Given the description of an element on the screen output the (x, y) to click on. 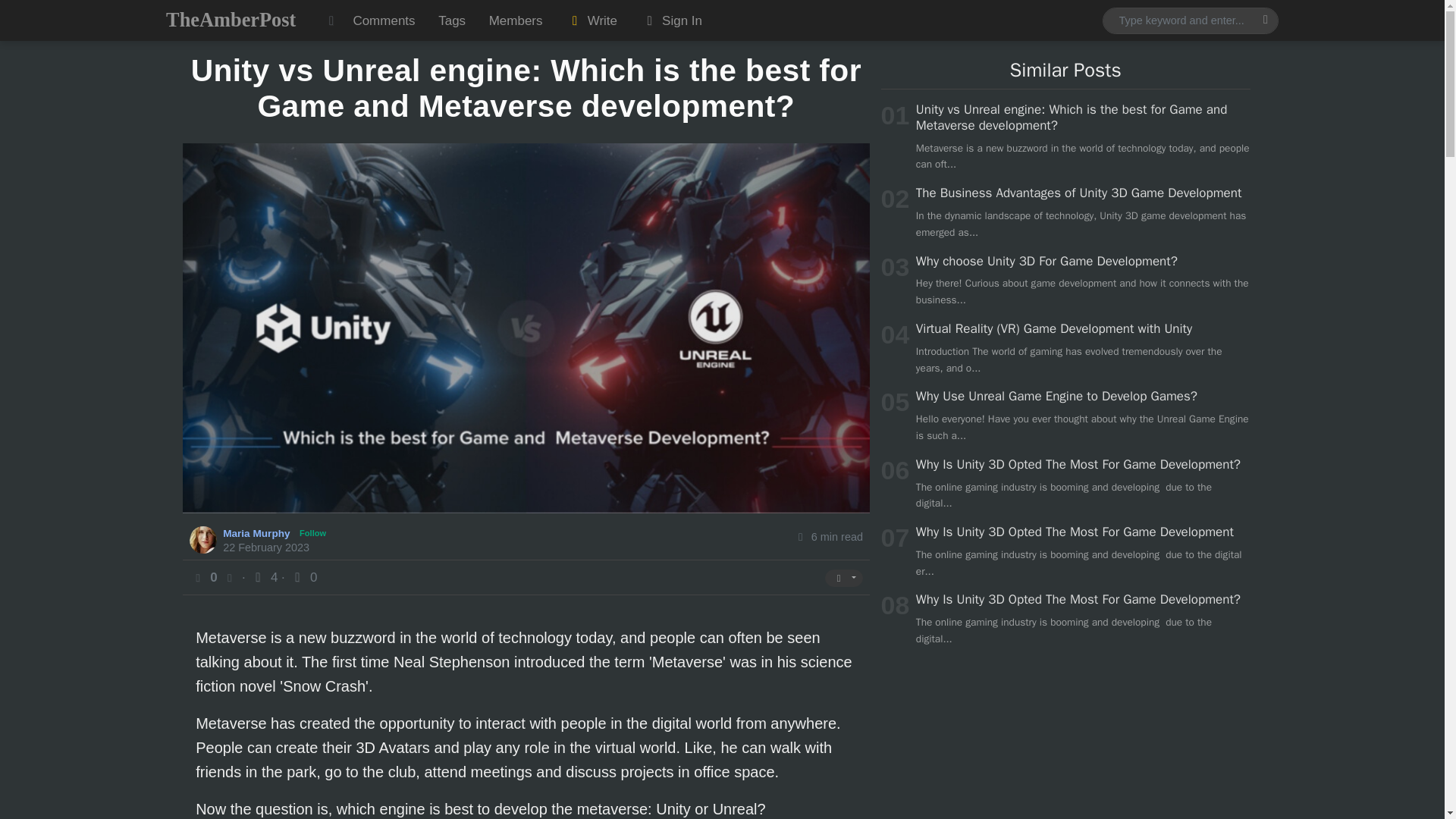
Write (591, 20)
Comments (383, 20)
The Business Advantages of Unity 3D Game Development (1078, 192)
Members (515, 20)
Why Is Unity 3D Opted The Most For Game Development? (1077, 599)
Toggle dark mode (330, 20)
Maria Murphy (258, 532)
TheAmberPost (230, 20)
Why Is Unity 3D Opted The Most For Game Development (1074, 531)
Sign In (670, 20)
Views (264, 577)
Follow (312, 533)
Why Is Unity 3D Opted The Most For Game Development? (1077, 464)
Why choose Unity 3D For Game Development? (1046, 261)
